Given the description of an element on the screen output the (x, y) to click on. 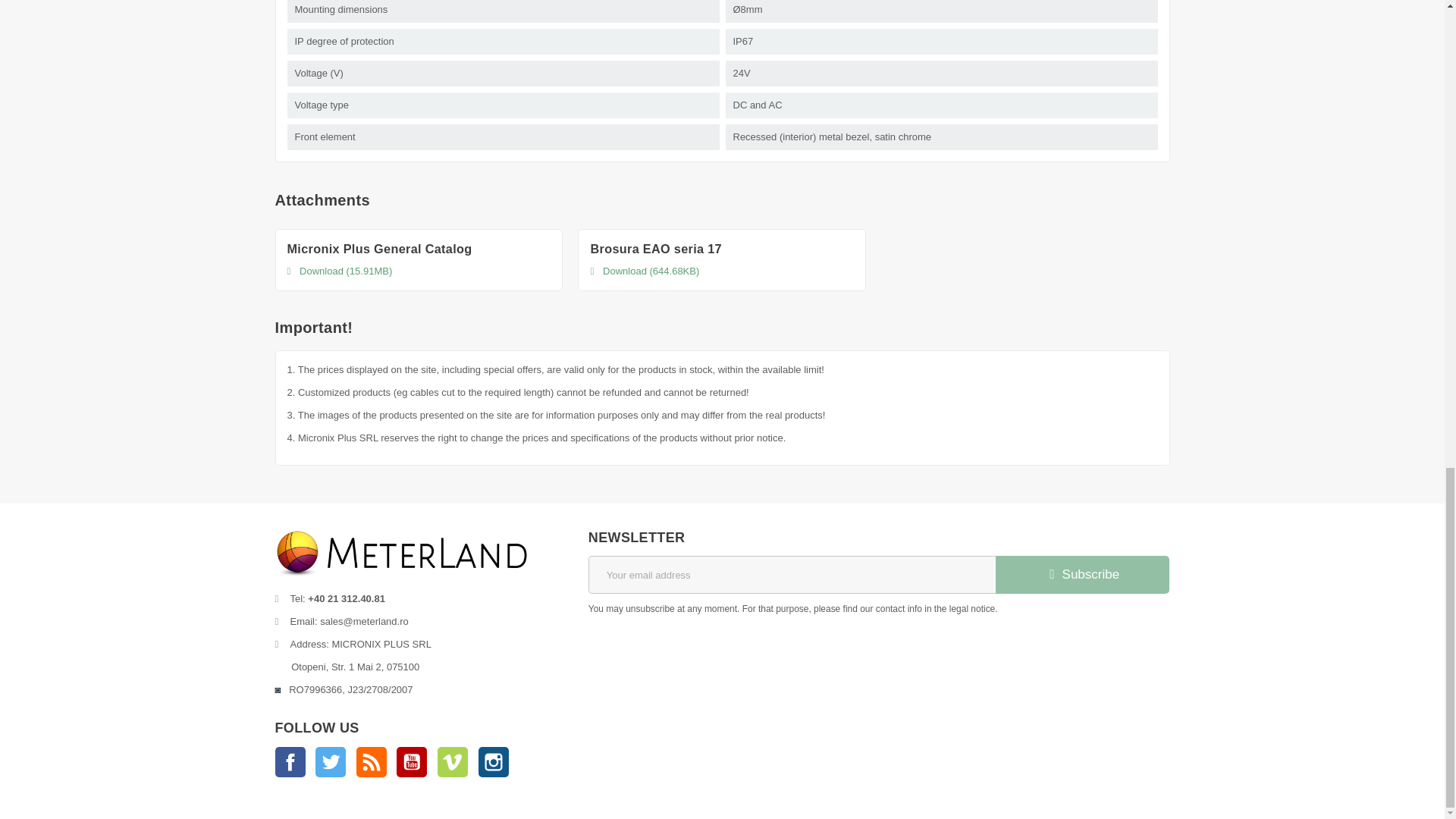
Instagram (493, 761)
Vimeo (452, 761)
Twitter (330, 761)
Subscribe (1081, 574)
Rss (371, 761)
Facebook (289, 761)
Micronix Plus General Catalog (378, 248)
Instagram (493, 761)
Rss (371, 761)
Facebook (289, 761)
